Given the description of an element on the screen output the (x, y) to click on. 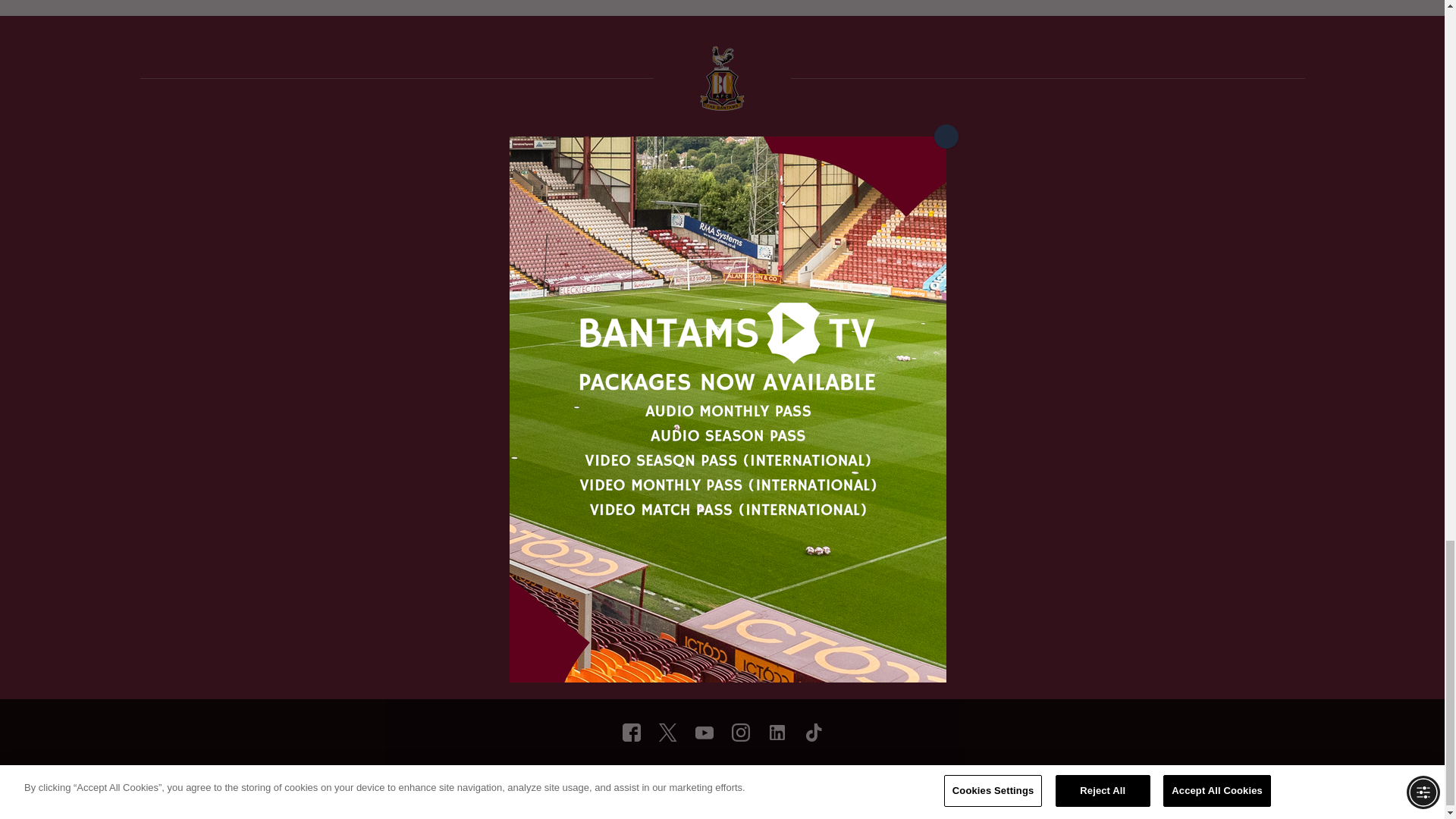
Privacy Policy (648, 784)
Accessibility (719, 784)
Terms of Use (575, 784)
Contact Us (872, 784)
Company Details (796, 784)
Bradford City AFC (776, 732)
officialbantams (630, 732)
